Given the description of an element on the screen output the (x, y) to click on. 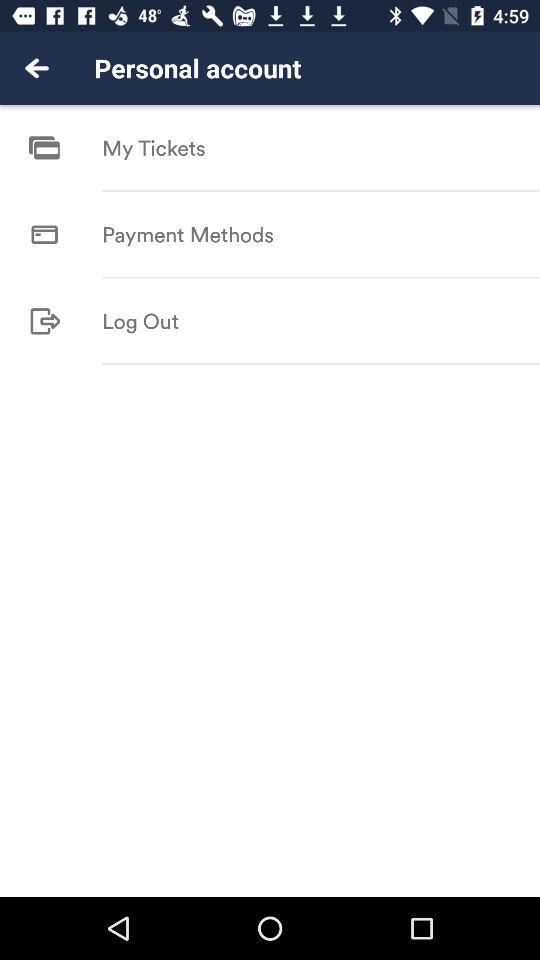
select the item to the left of the personal account item (36, 68)
